Given the description of an element on the screen output the (x, y) to click on. 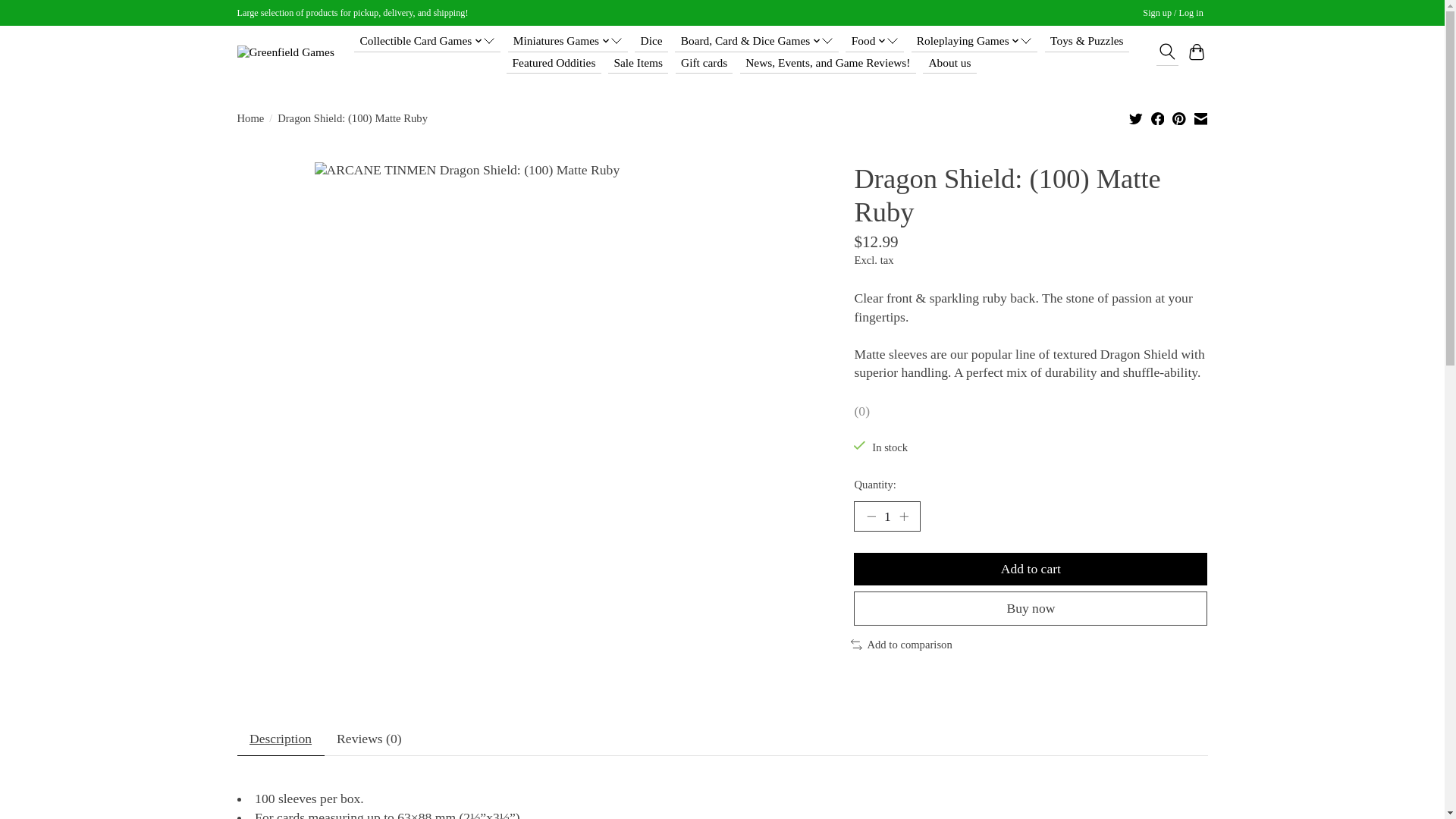
Collectible Card Games (426, 40)
About us (949, 62)
My account (1173, 13)
Food (874, 40)
Gift cards (704, 62)
News, Events, and Game Reviews! (827, 62)
Share on Facebook (1157, 118)
Roleplaying Games (974, 40)
Miniatures Games (567, 40)
Share by Email (1200, 118)
